Given the description of an element on the screen output the (x, y) to click on. 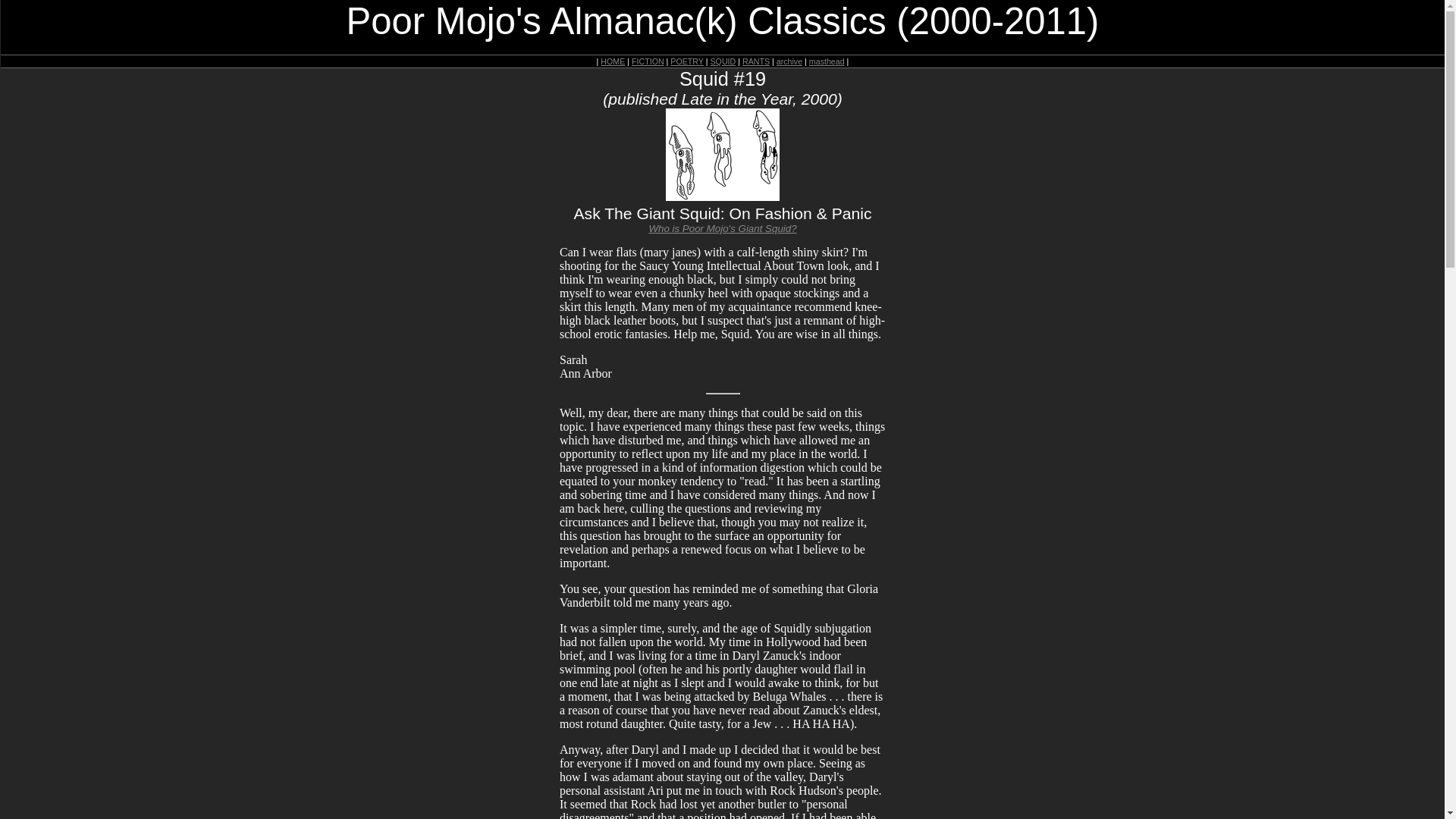
RANTS (756, 61)
archive (789, 61)
SQUID (722, 61)
HOME (611, 61)
FICTION (647, 61)
Who is Poor Mojo's Giant Squid? (721, 228)
POETRY (686, 61)
masthead (826, 61)
